Given the description of an element on the screen output the (x, y) to click on. 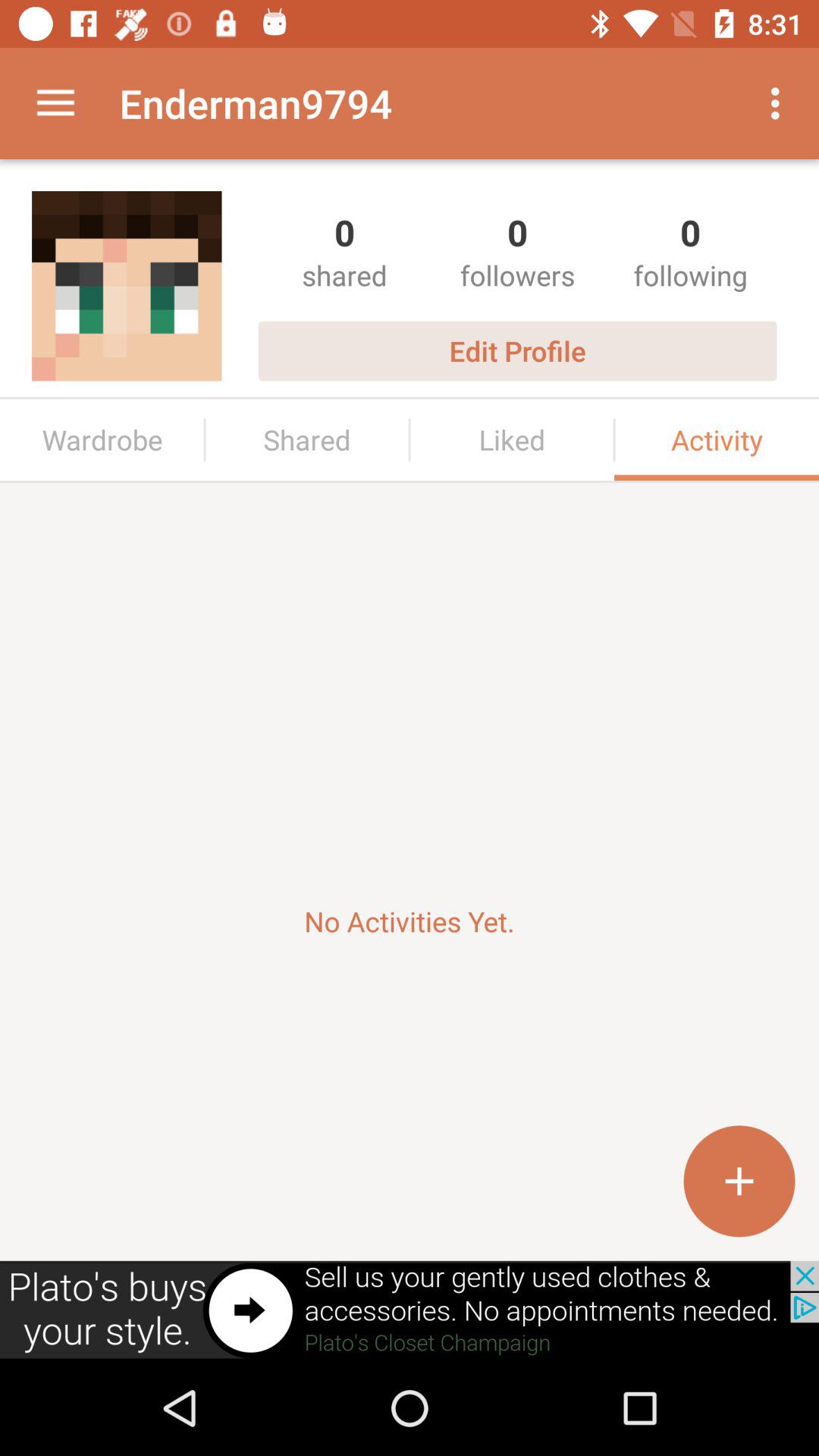
open advertisement (409, 1310)
